Given the description of an element on the screen output the (x, y) to click on. 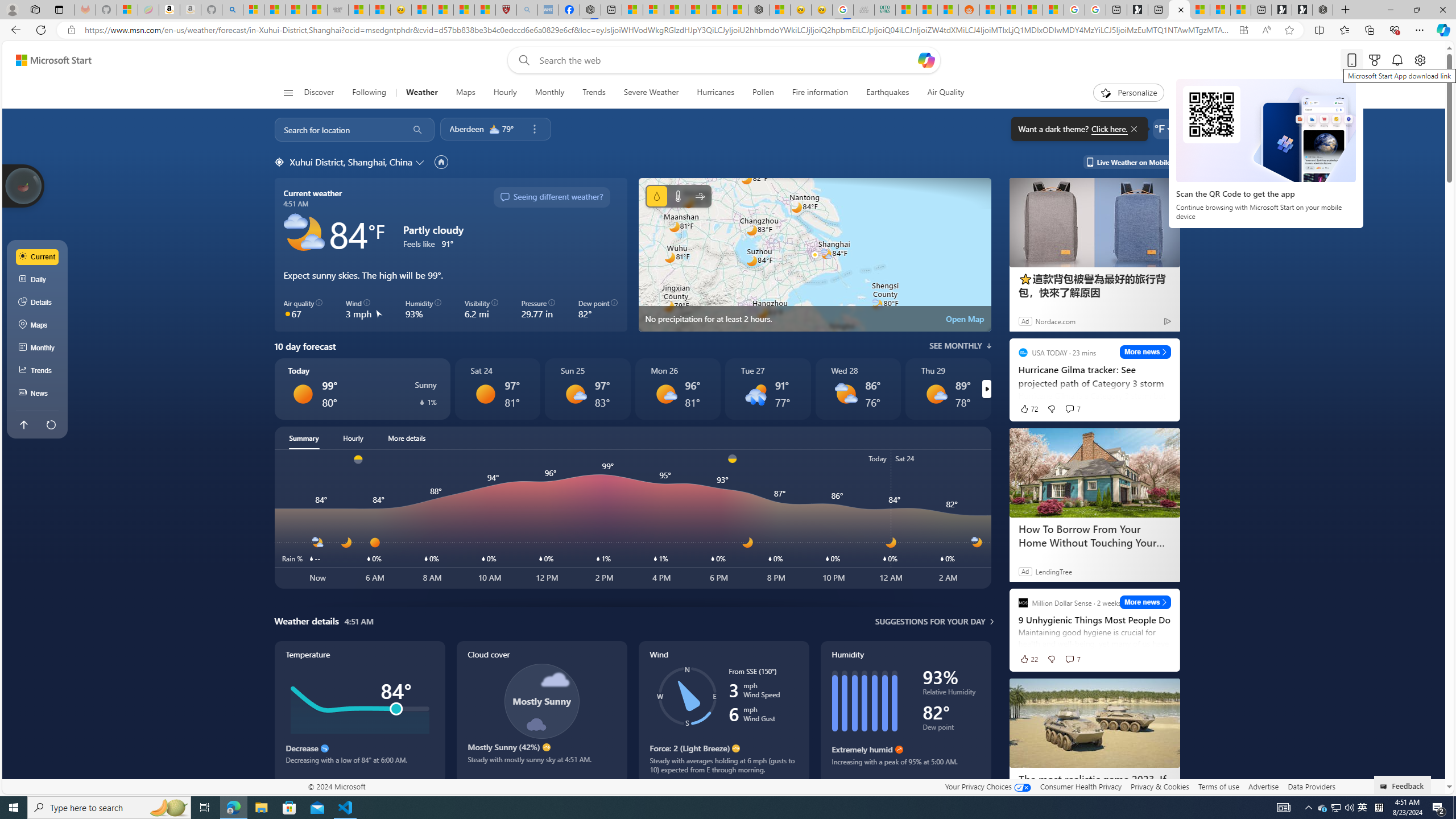
Wind 3 mph (363, 309)
How To Borrow From Your Home Without Touching Your Mortgage (1093, 535)
Remove location (534, 128)
Hourly (352, 437)
Fire information (820, 92)
Monthly (37, 347)
Suggestions for your day (930, 620)
